Given the description of an element on the screen output the (x, y) to click on. 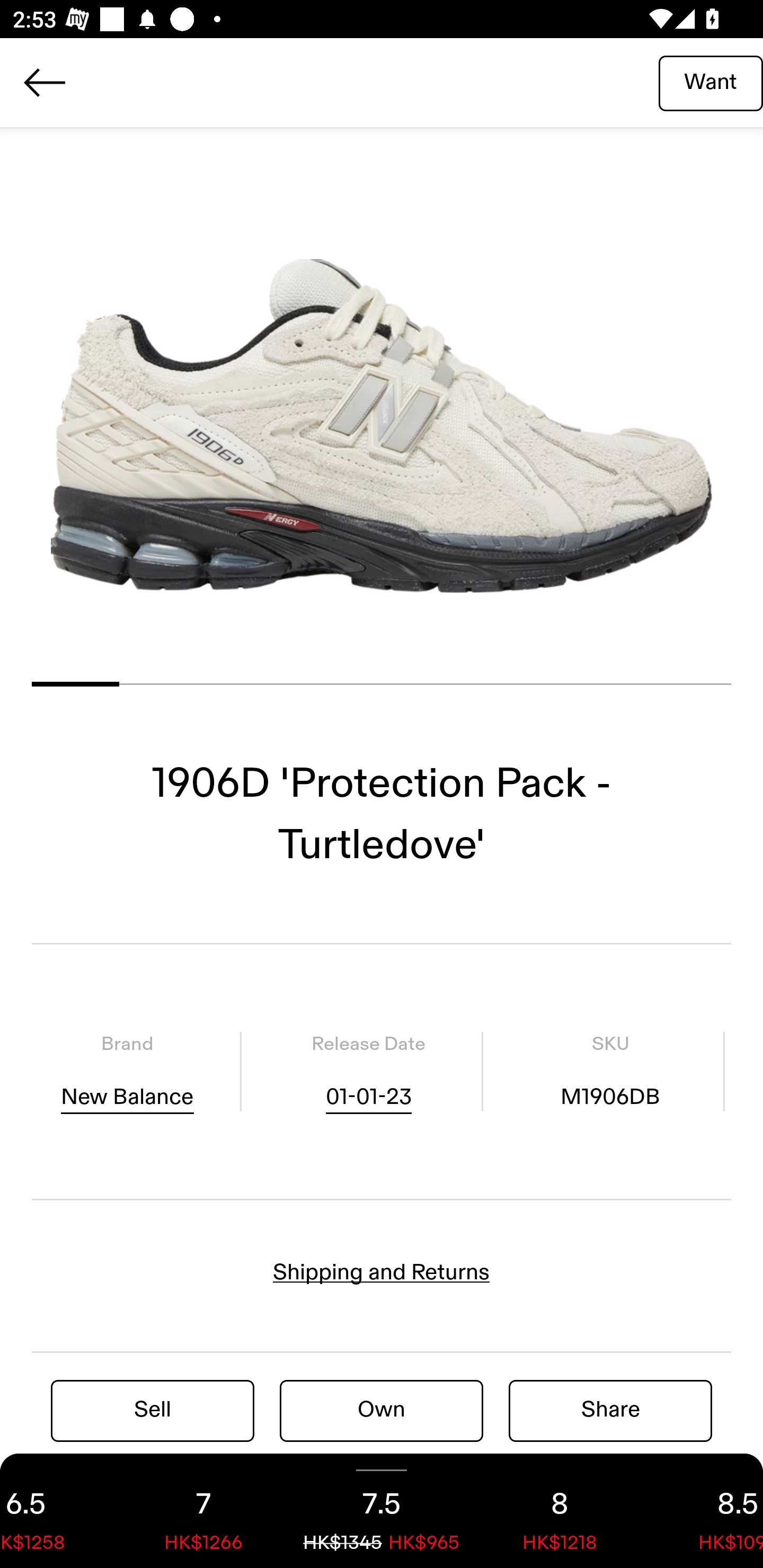
Want (710, 82)
Brand New Balance (126, 1070)
Release Date 01-01-23 (368, 1070)
SKU M1906DB (609, 1070)
Shipping and Returns (381, 1272)
Sell (152, 1410)
Own (381, 1410)
Share (609, 1410)
6.5 HK$1258 (57, 1510)
7 HK$1266 (203, 1510)
7.5 HK$1345 HK$965 (381, 1510)
8 HK$1218 (559, 1510)
8.5 HK$1092 (705, 1510)
